Given the description of an element on the screen output the (x, y) to click on. 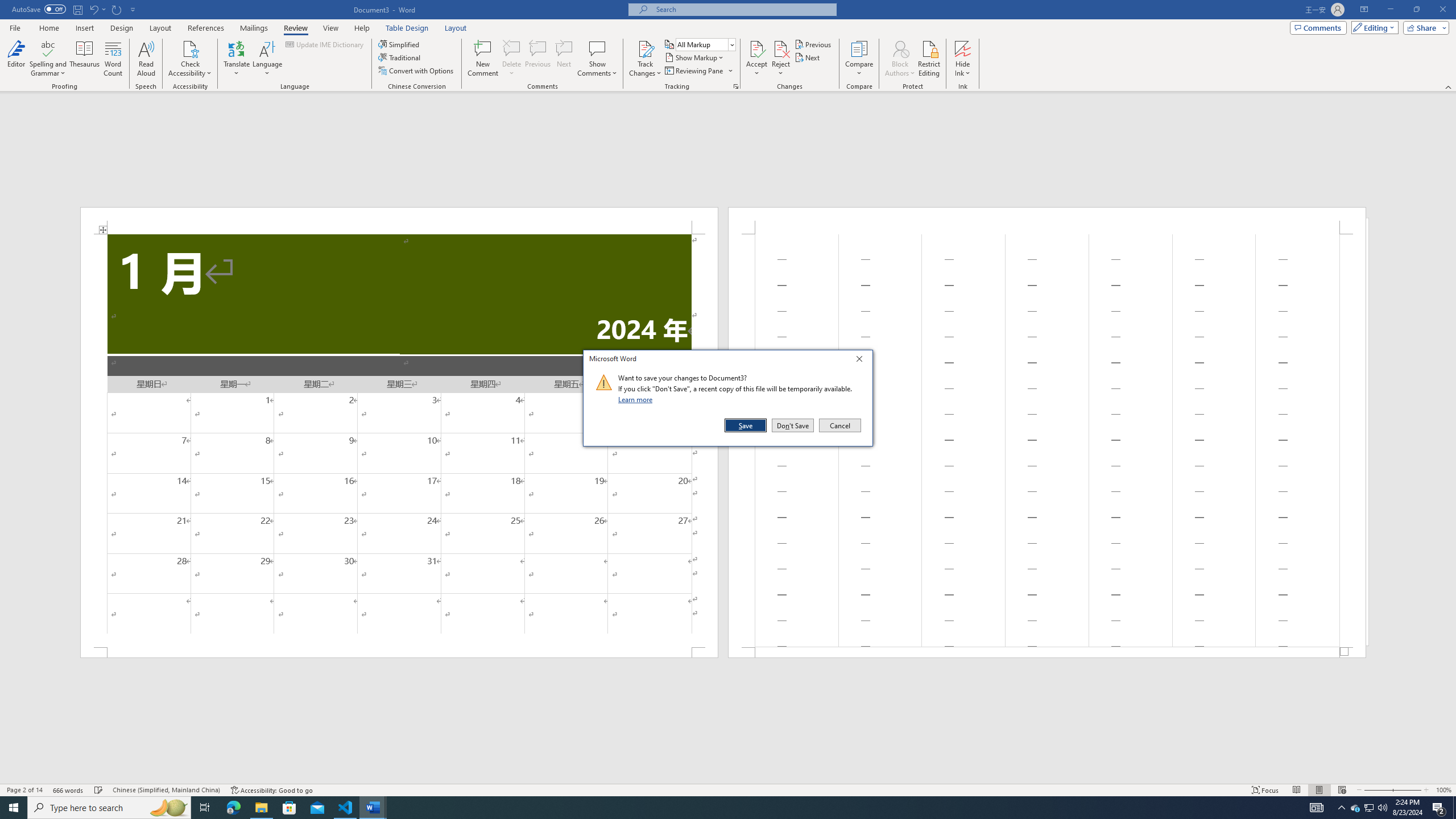
Translate (236, 58)
Compare (859, 58)
Don't Save (792, 425)
Read Aloud (145, 58)
Language (267, 58)
User Promoted Notification Area (1368, 807)
Repeat Doc Close (117, 9)
Hide Ink (962, 58)
Reviewing Pane (694, 69)
AutomationID: 4105 (1316, 807)
Undo Apply Quick Style (92, 9)
